Given the description of an element on the screen output the (x, y) to click on. 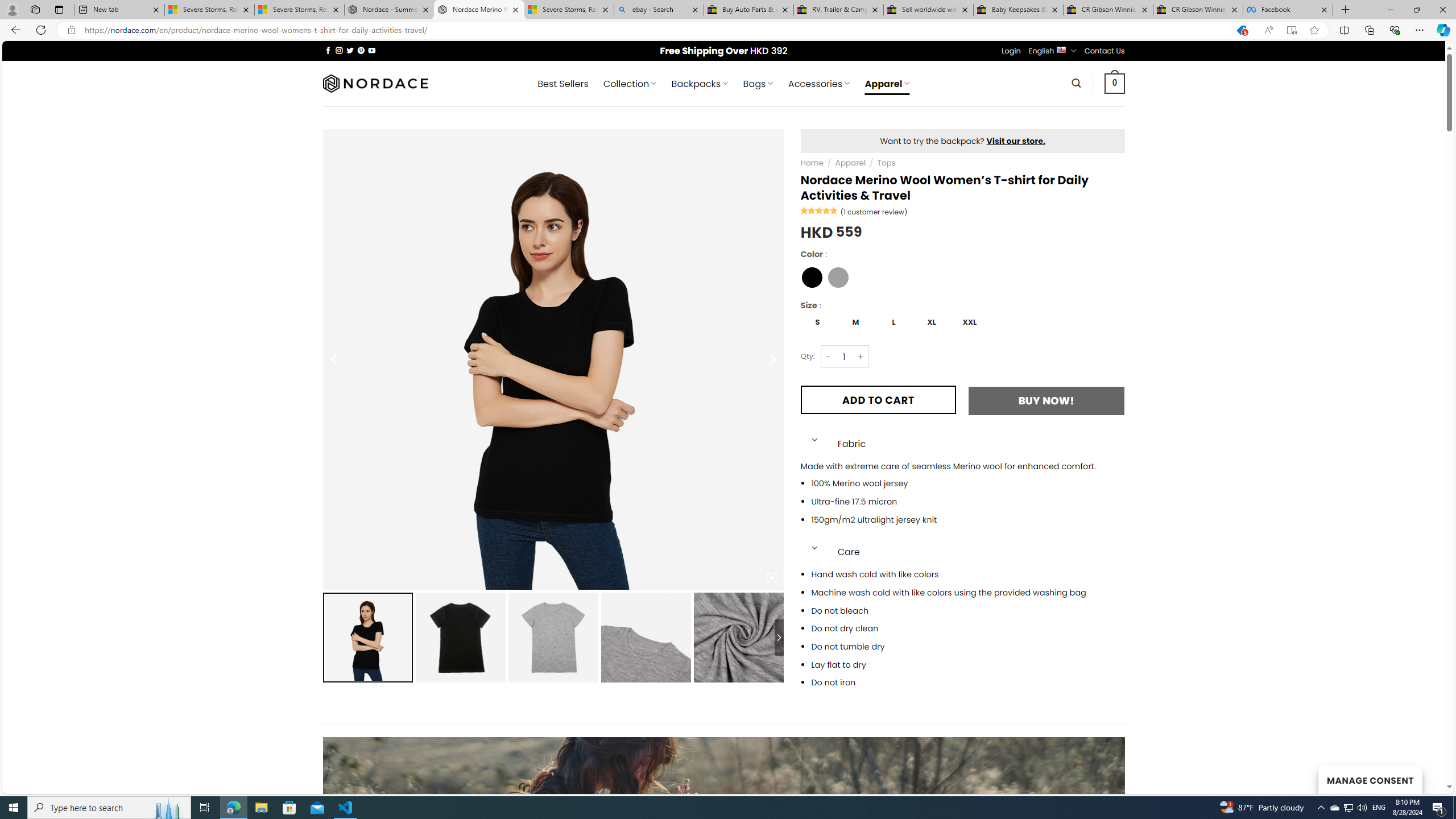
(1 customer review) (873, 211)
  Best Sellers (562, 83)
Apparel (850, 162)
- (827, 356)
